Given the description of an element on the screen output the (x, y) to click on. 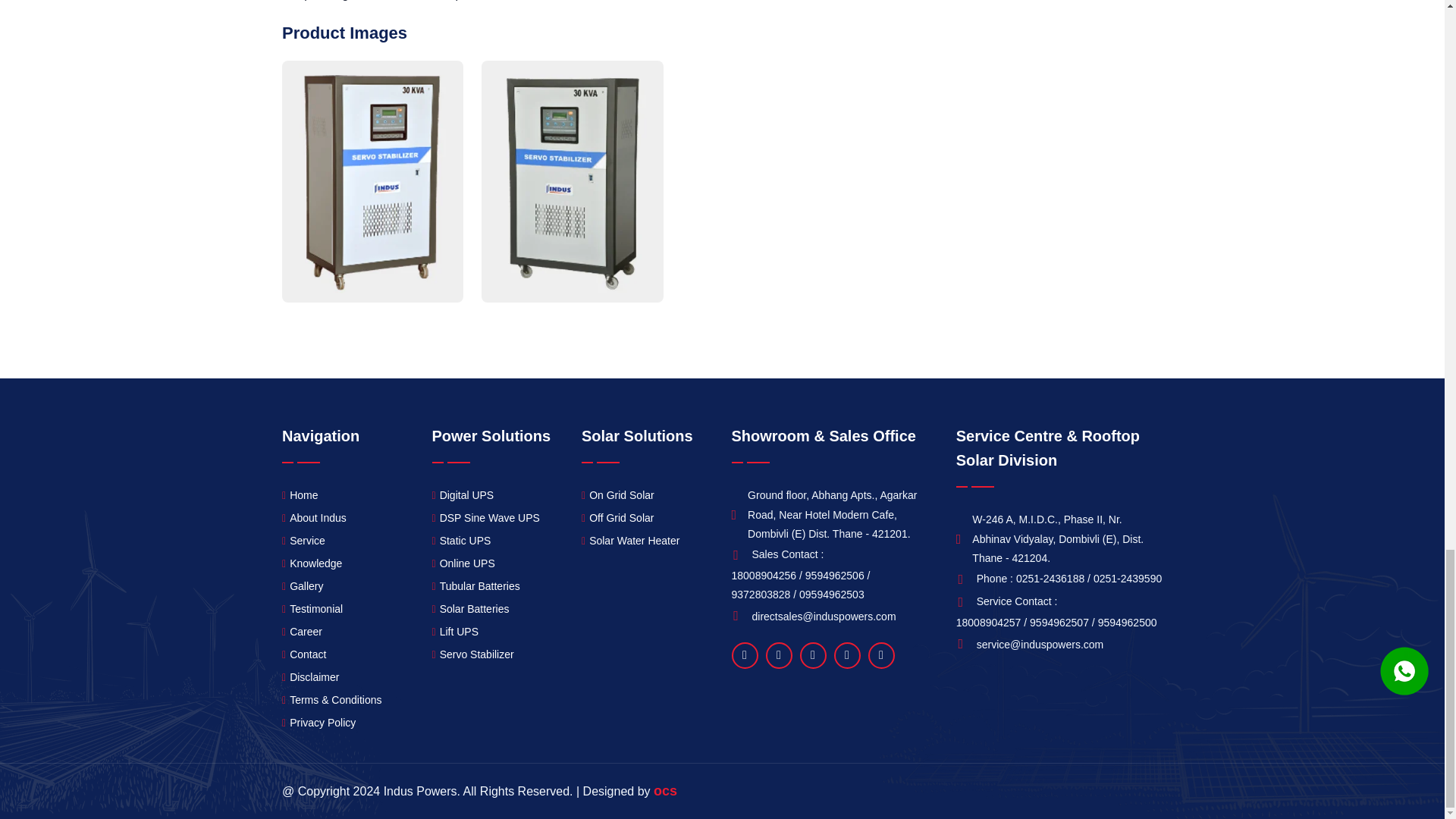
Disclaimer (310, 677)
About Indus (314, 517)
Testimonial (312, 609)
Service (303, 540)
Career (301, 631)
Gallery (302, 586)
Contact (304, 654)
Knowledge (312, 563)
Home (299, 495)
